Given the description of an element on the screen output the (x, y) to click on. 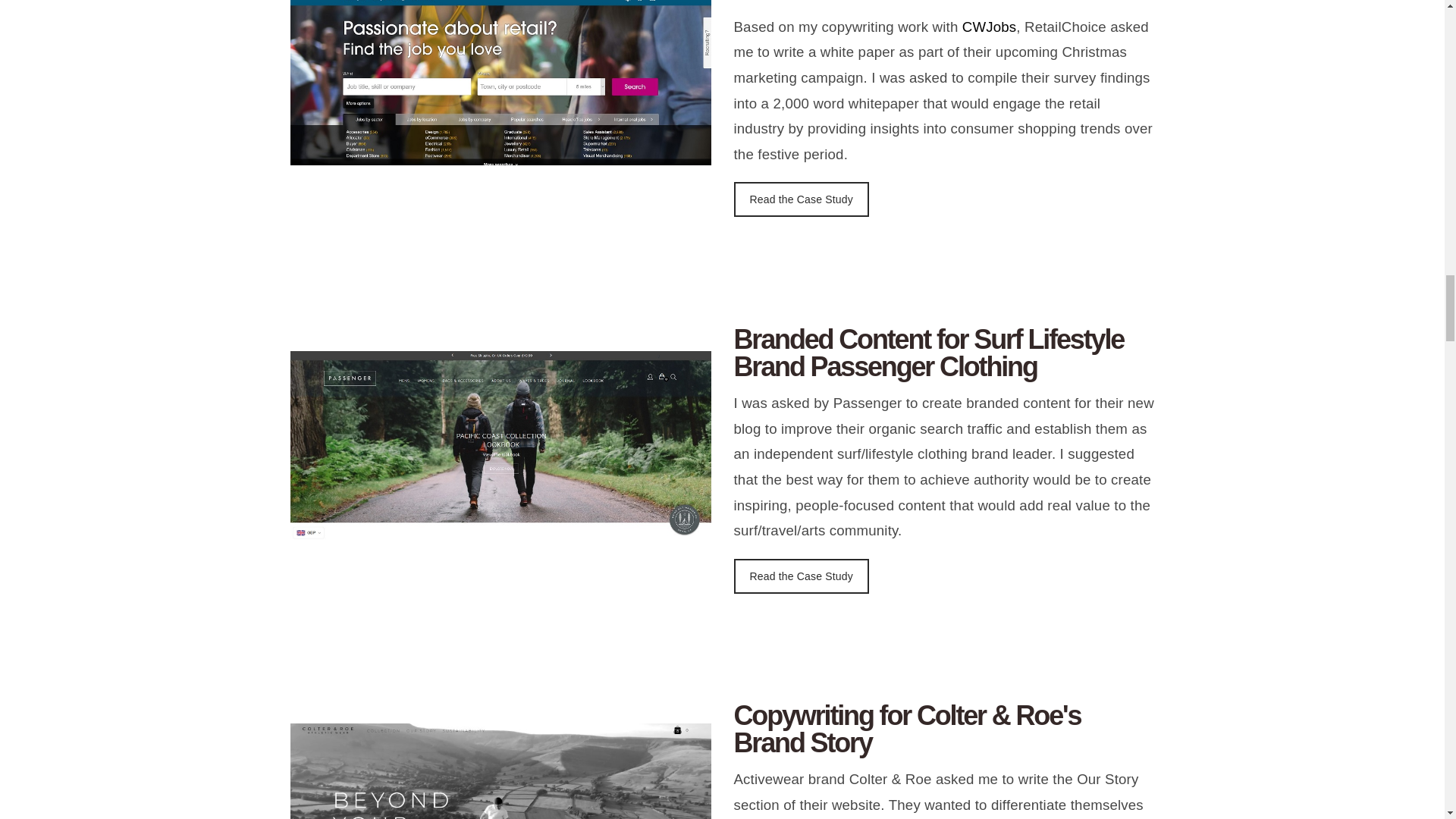
Case Study (801, 575)
colter-and-roe (499, 771)
retail-choice (499, 82)
White Paper Copywriting for Jobs Board RetailChoice (943, 2)
passenger-new (499, 446)
Case Study (801, 199)
Branded Content for Surf Lifestyle Brand Passenger Clothing (943, 352)
